Given the description of an element on the screen output the (x, y) to click on. 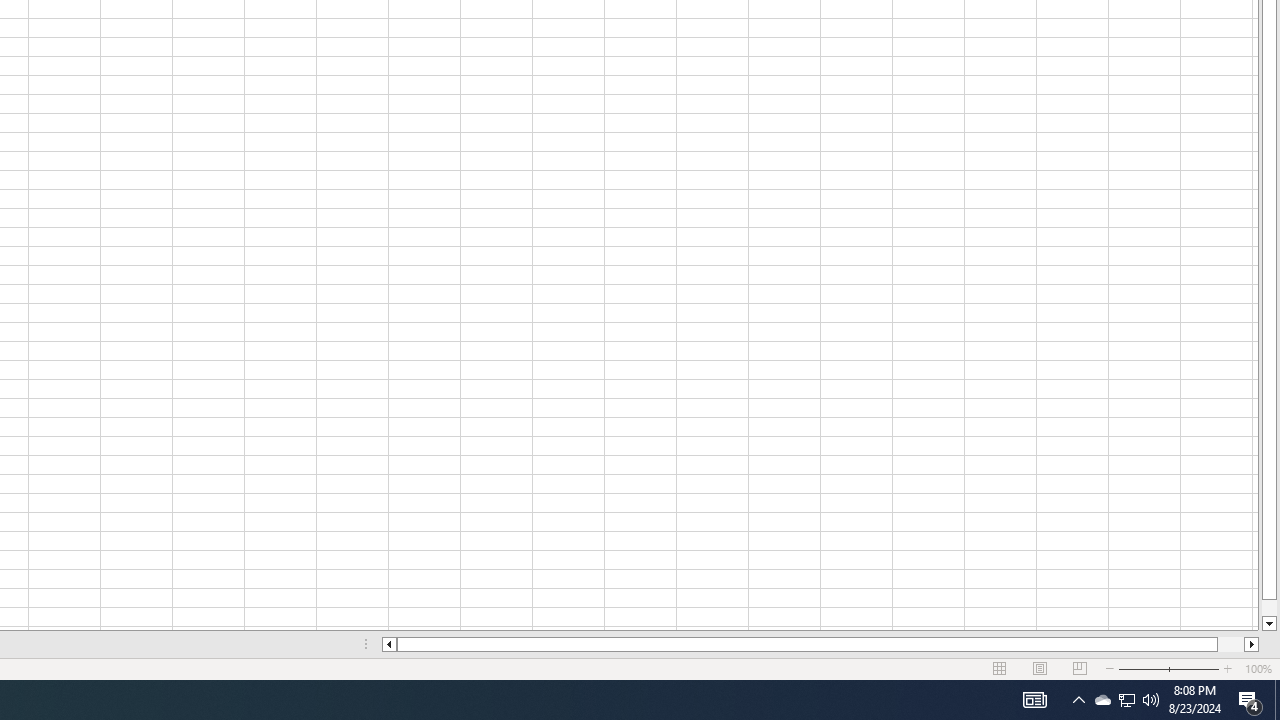
Page right (1231, 644)
Zoom Out (1142, 668)
Page Layout (1039, 668)
Zoom In (1227, 668)
Normal (1000, 668)
Class: NetUIScrollBar (820, 644)
Line down (1268, 624)
Column right (1252, 644)
Zoom (1168, 668)
Page down (1268, 607)
Page Break Preview (1079, 668)
Column left (388, 644)
